Given the description of an element on the screen output the (x, y) to click on. 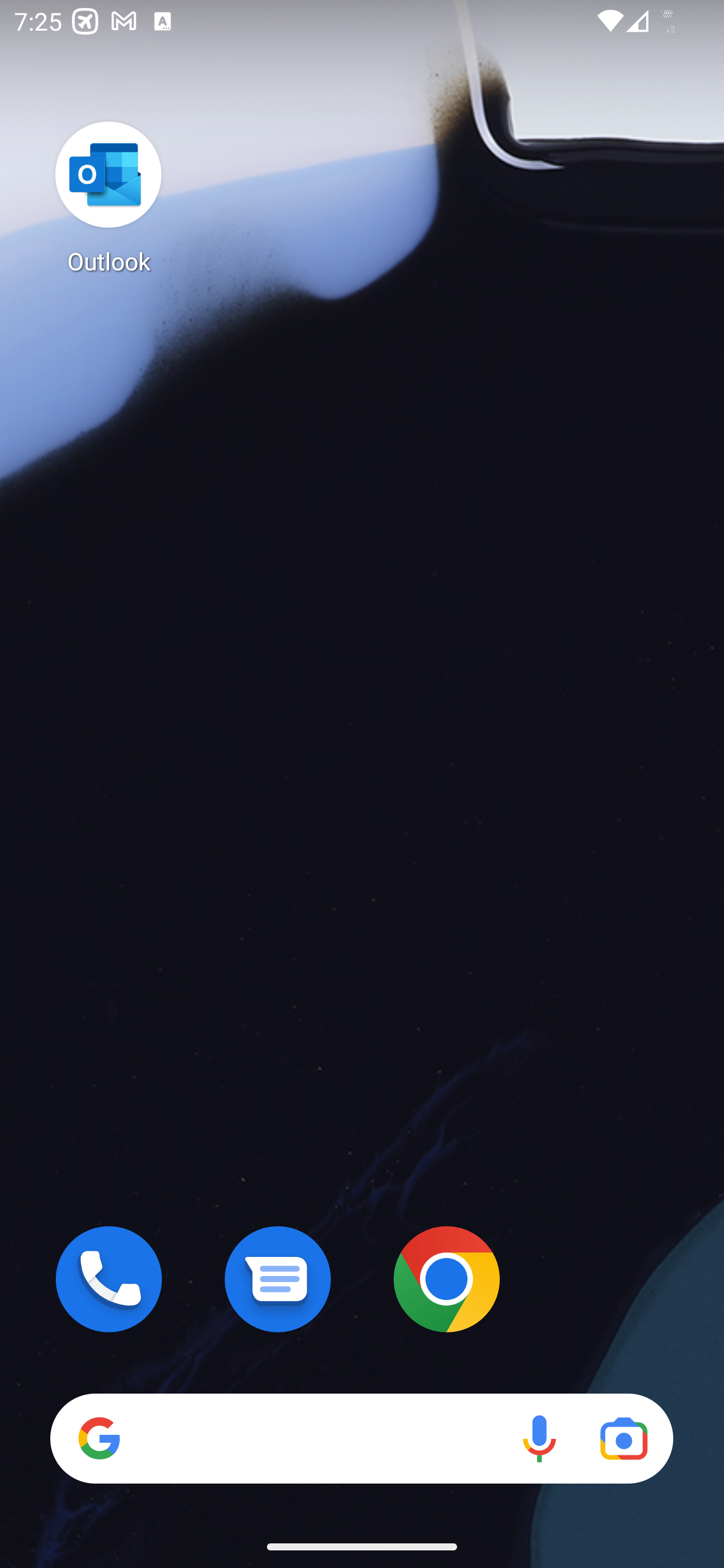
Outlook (108, 196)
Phone (108, 1279)
Messages (277, 1279)
Chrome (446, 1279)
Voice search (539, 1438)
Google Lens (623, 1438)
